Given the description of an element on the screen output the (x, y) to click on. 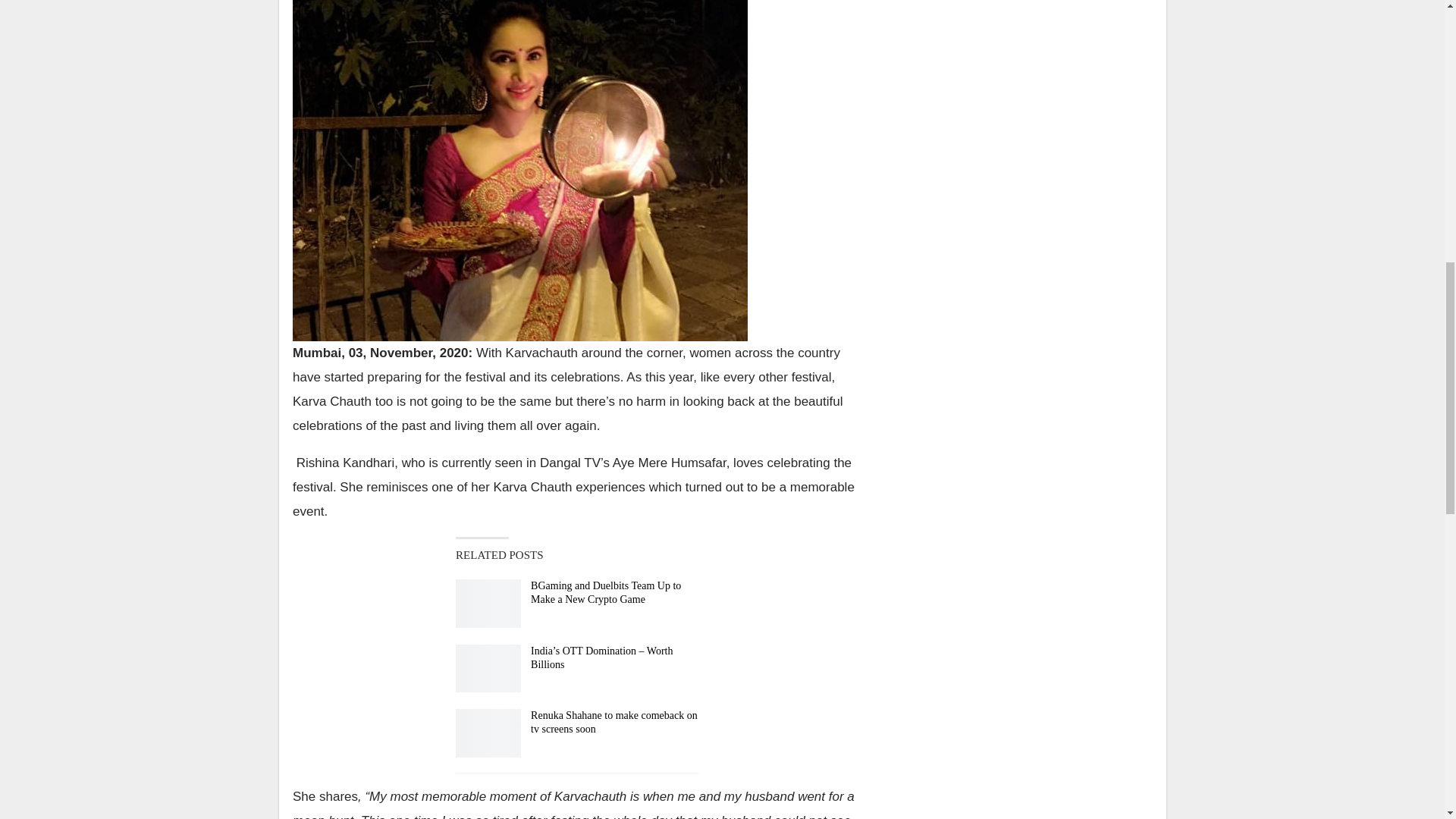
Renuka Shahane to make comeback on tv screens soon (488, 733)
BGaming and Duelbits Team Up to Make a New Crypto Game (488, 603)
